Given the description of an element on the screen output the (x, y) to click on. 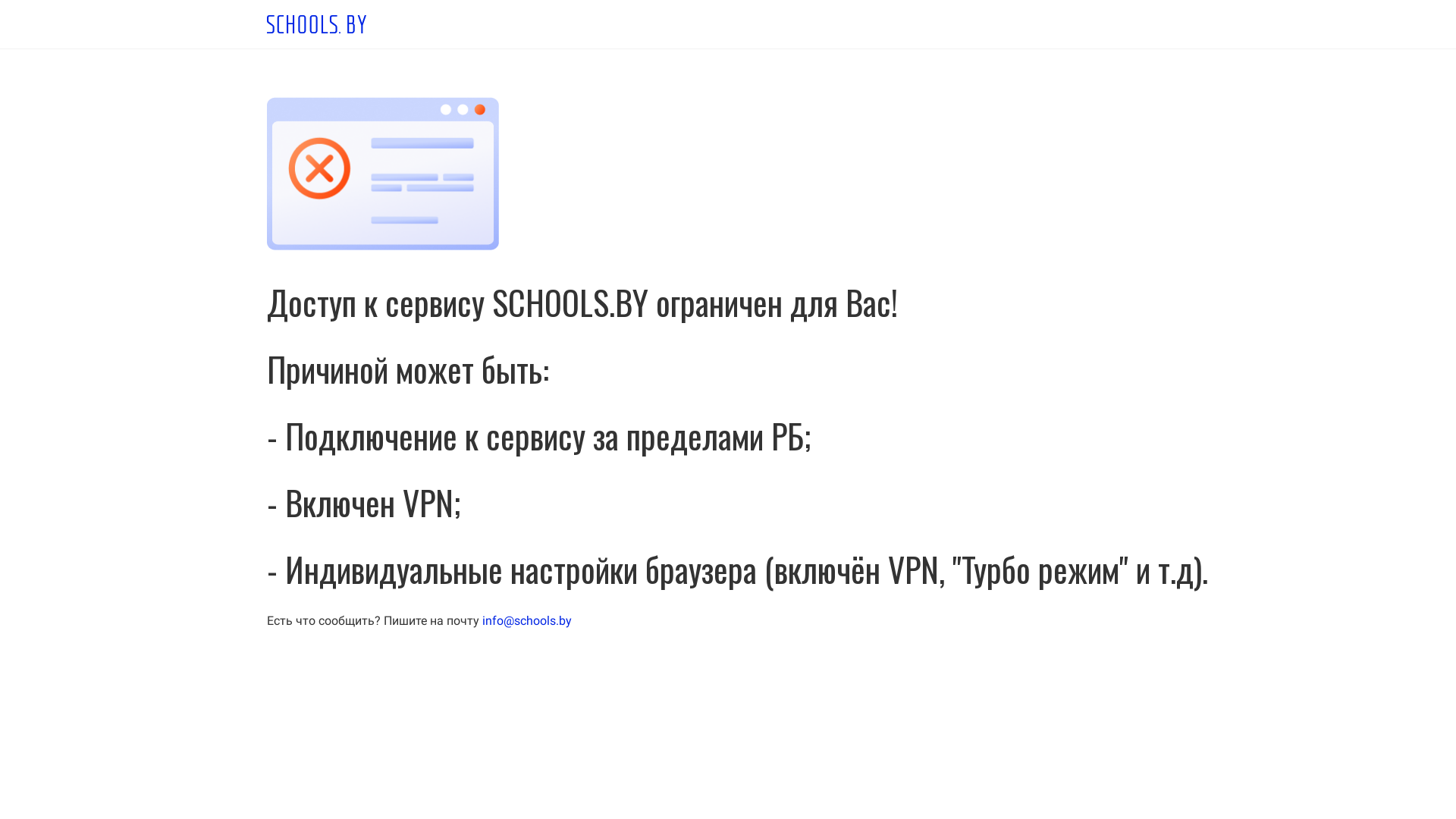
info@schools.by Element type: text (526, 620)
